Given the description of an element on the screen output the (x, y) to click on. 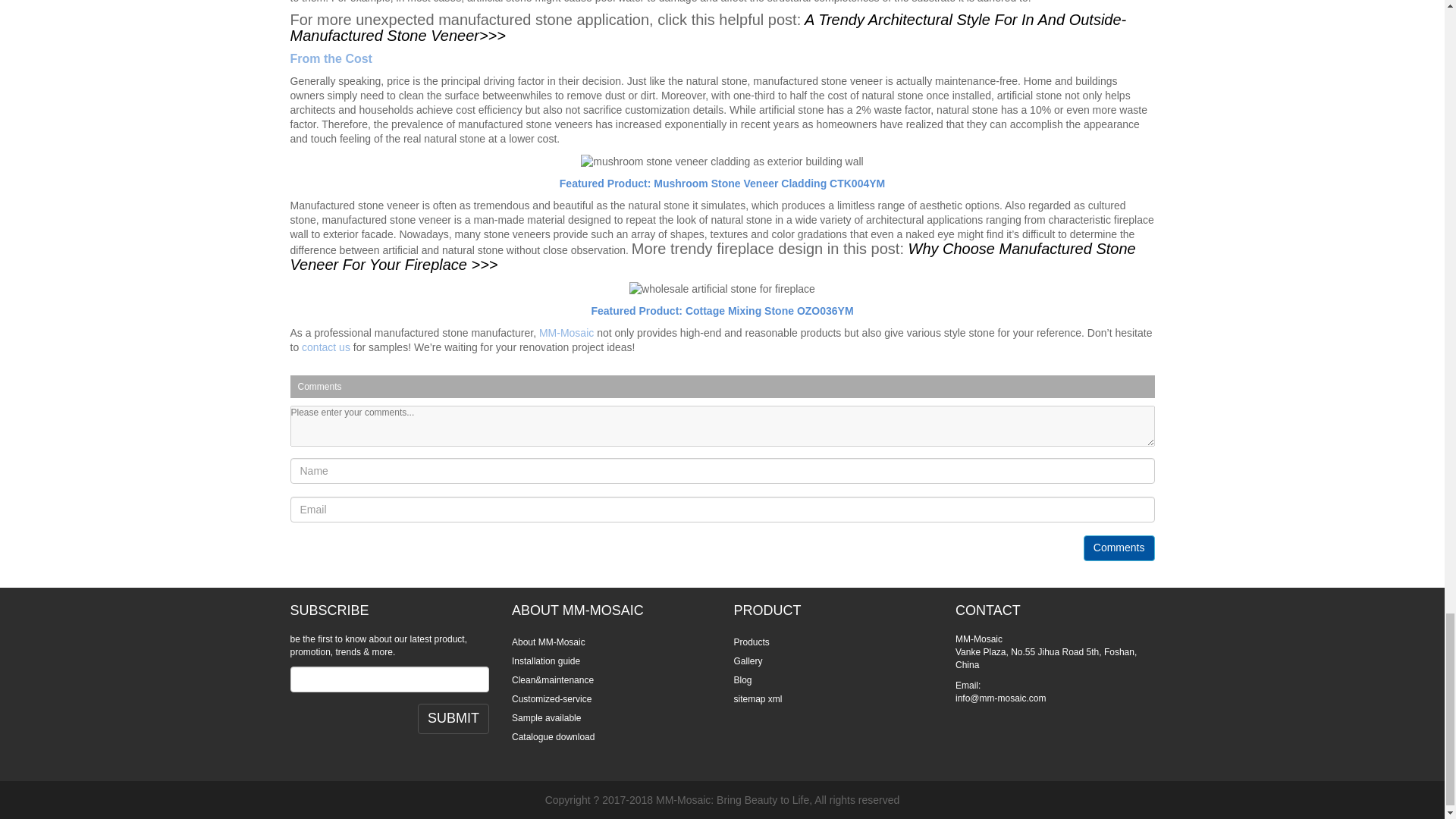
mushroom stone veneer cladding as exterior building wall (721, 160)
